Given the description of an element on the screen output the (x, y) to click on. 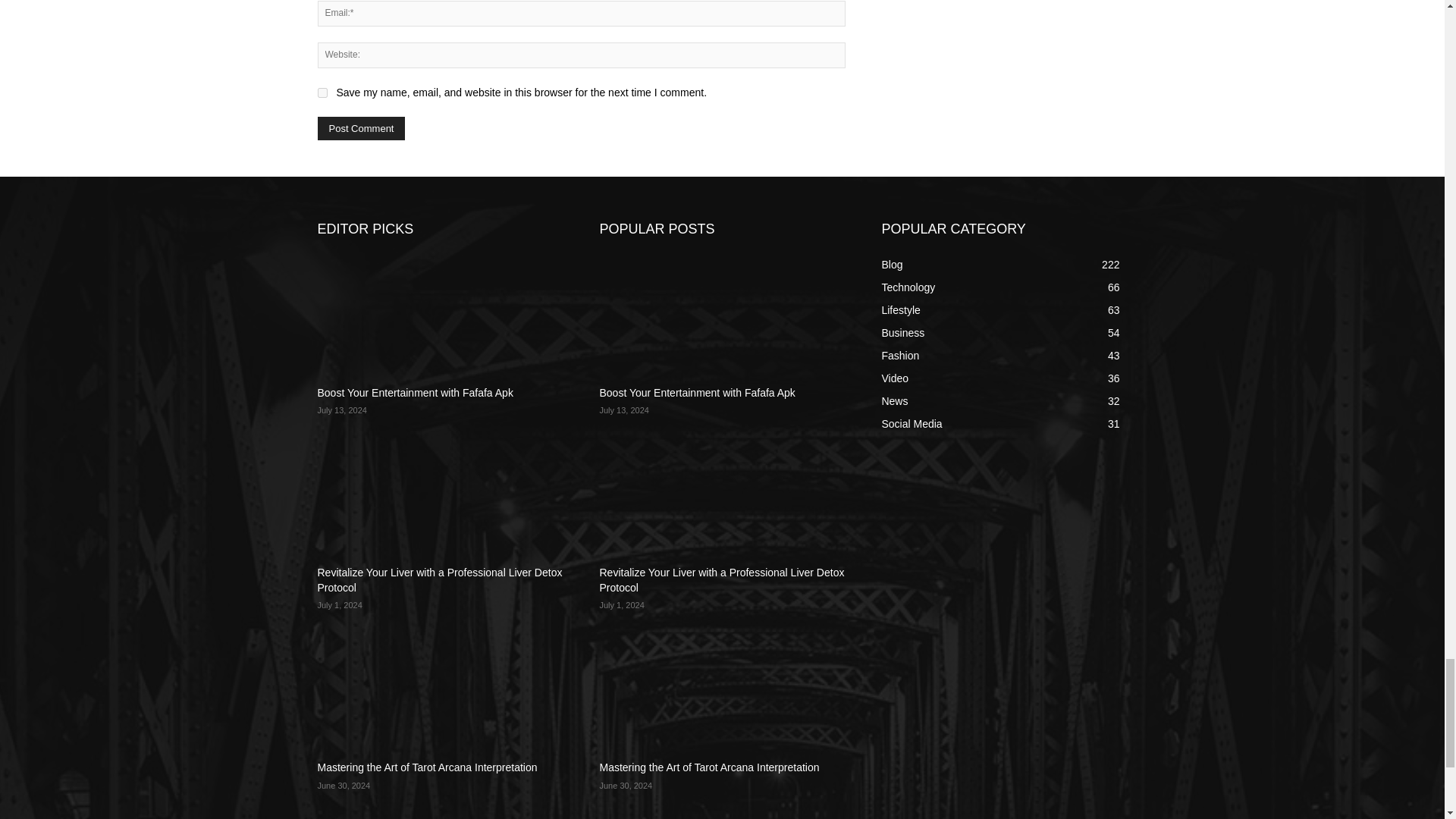
Post Comment (360, 128)
yes (321, 92)
